Given the description of an element on the screen output the (x, y) to click on. 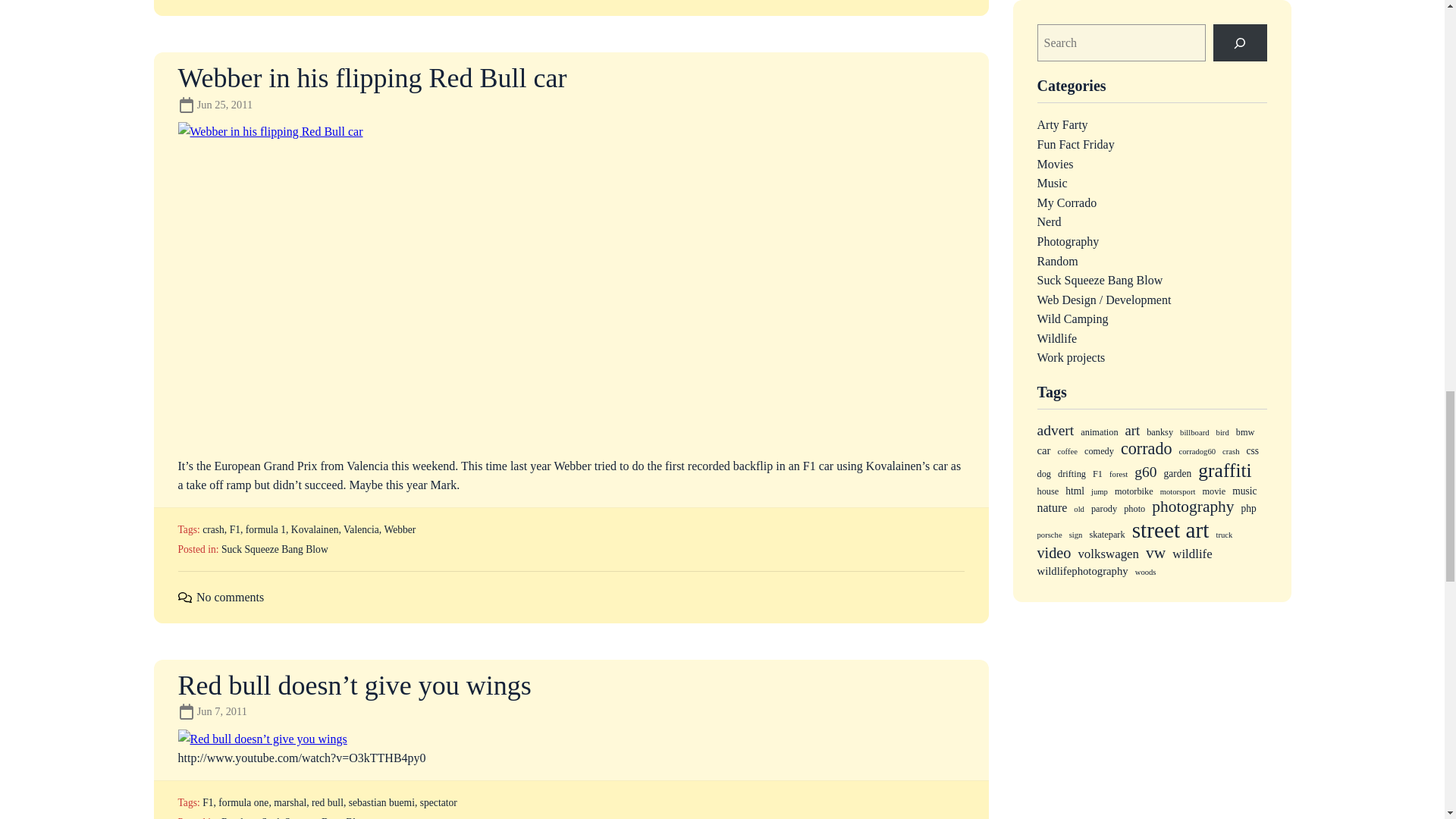
comments (183, 597)
Webber accident Valencia.avi (366, 283)
